Given the description of an element on the screen output the (x, y) to click on. 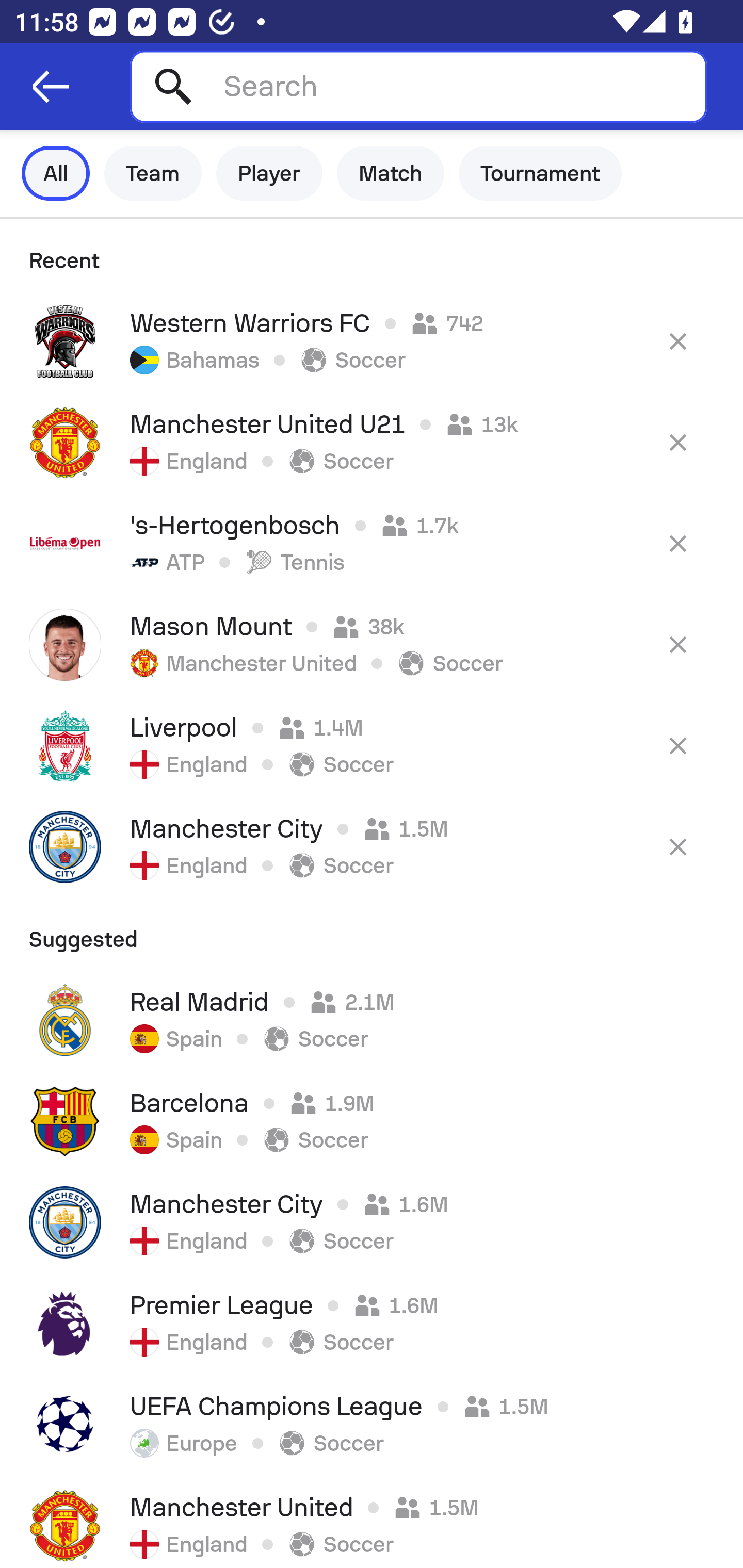
Navigate up (50, 86)
Search (418, 86)
All (55, 172)
Team (152, 172)
Player (268, 172)
Match (390, 172)
Tournament (540, 172)
Recent (371, 254)
Western Warriors FC 742 Bahamas Soccer (371, 341)
Manchester United U21 13k England Soccer (371, 442)
's-Hertogenbosch 1.7k ATP Tennis (371, 543)
Mason Mount 38k Manchester United Soccer (371, 644)
Liverpool 1.4M England Soccer (371, 745)
Manchester City 1.5M England Soccer (371, 846)
Suggested (371, 932)
Real Madrid 2.1M Spain Soccer (371, 1019)
Barcelona 1.9M Spain Soccer (371, 1120)
Manchester City 1.6M England Soccer (371, 1222)
Premier League 1.6M England Soccer (371, 1323)
UEFA Champions League 1.5M Europe Soccer (371, 1424)
Manchester United 1.5M England Soccer (371, 1521)
